Given the description of an element on the screen output the (x, y) to click on. 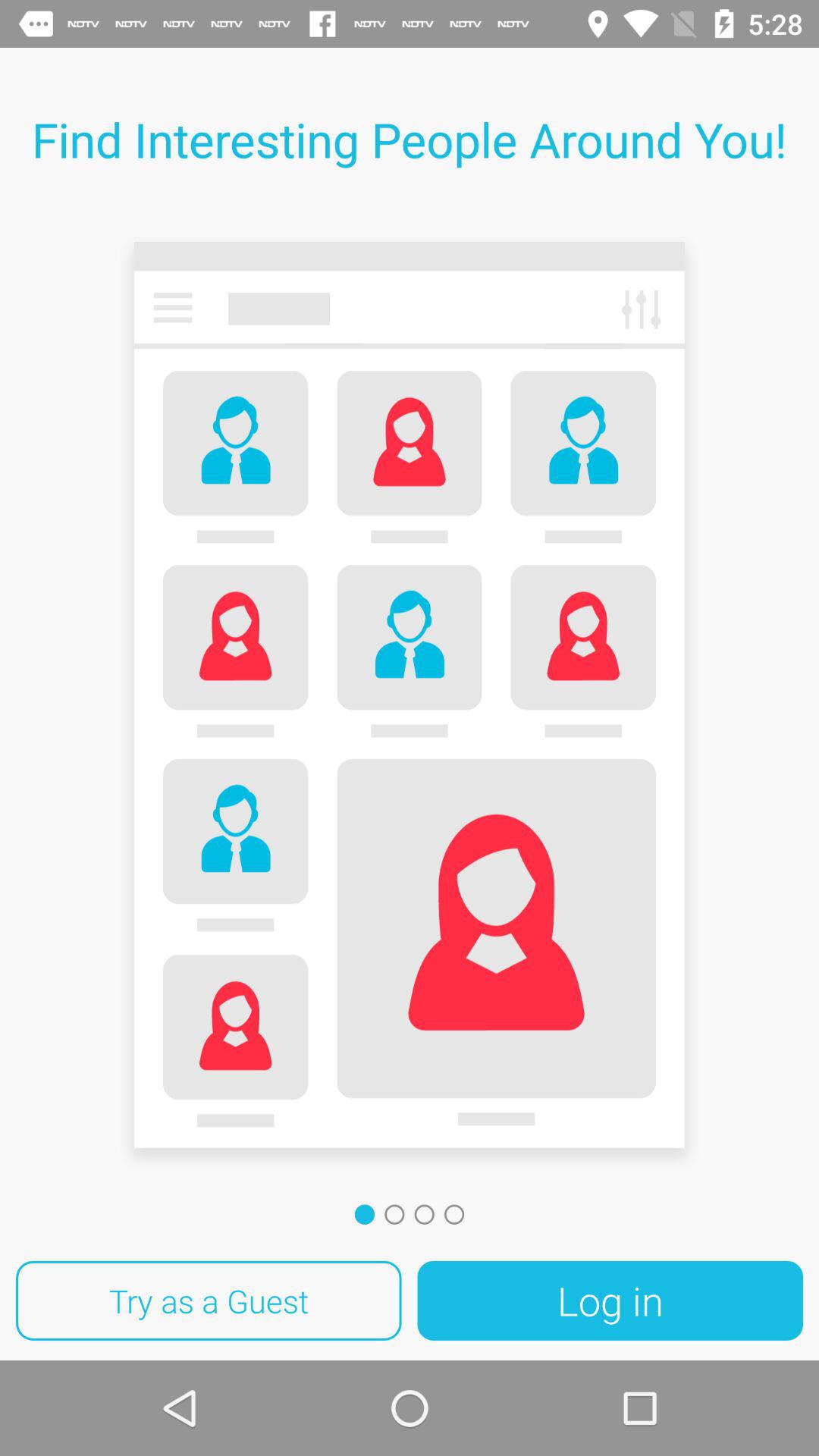
flip until try as a (208, 1300)
